Given the description of an element on the screen output the (x, y) to click on. 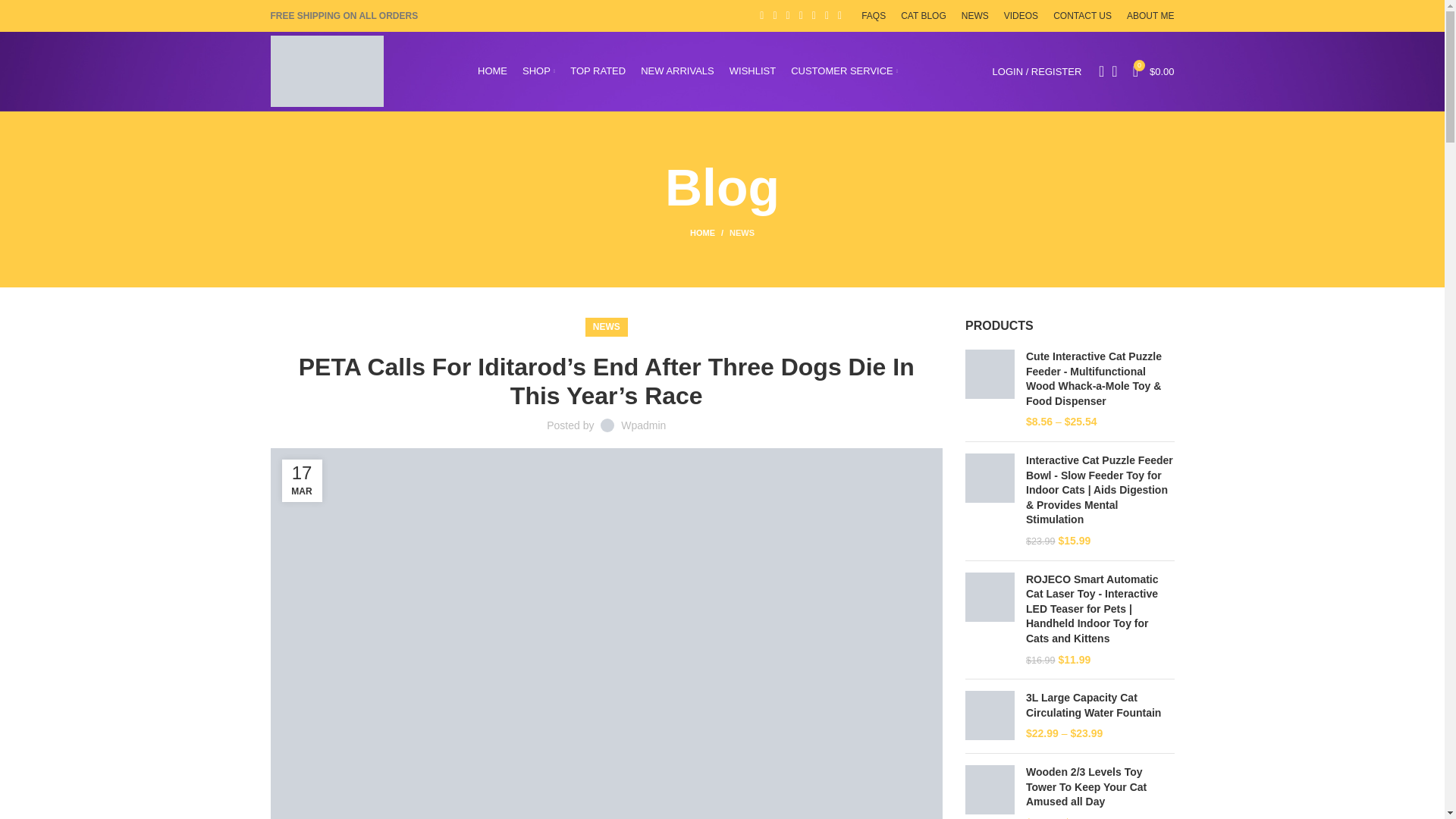
TOP RATED (598, 71)
HOME (491, 71)
NEW ARRIVALS (677, 71)
NEWS (974, 15)
CAT BLOG (923, 15)
My account (1037, 71)
SHOP (538, 71)
CONTACT US (1082, 15)
Shopping cart (1153, 71)
ABOUT ME (1149, 15)
VIDEOS (1021, 15)
WISHLIST (752, 71)
